Given the description of an element on the screen output the (x, y) to click on. 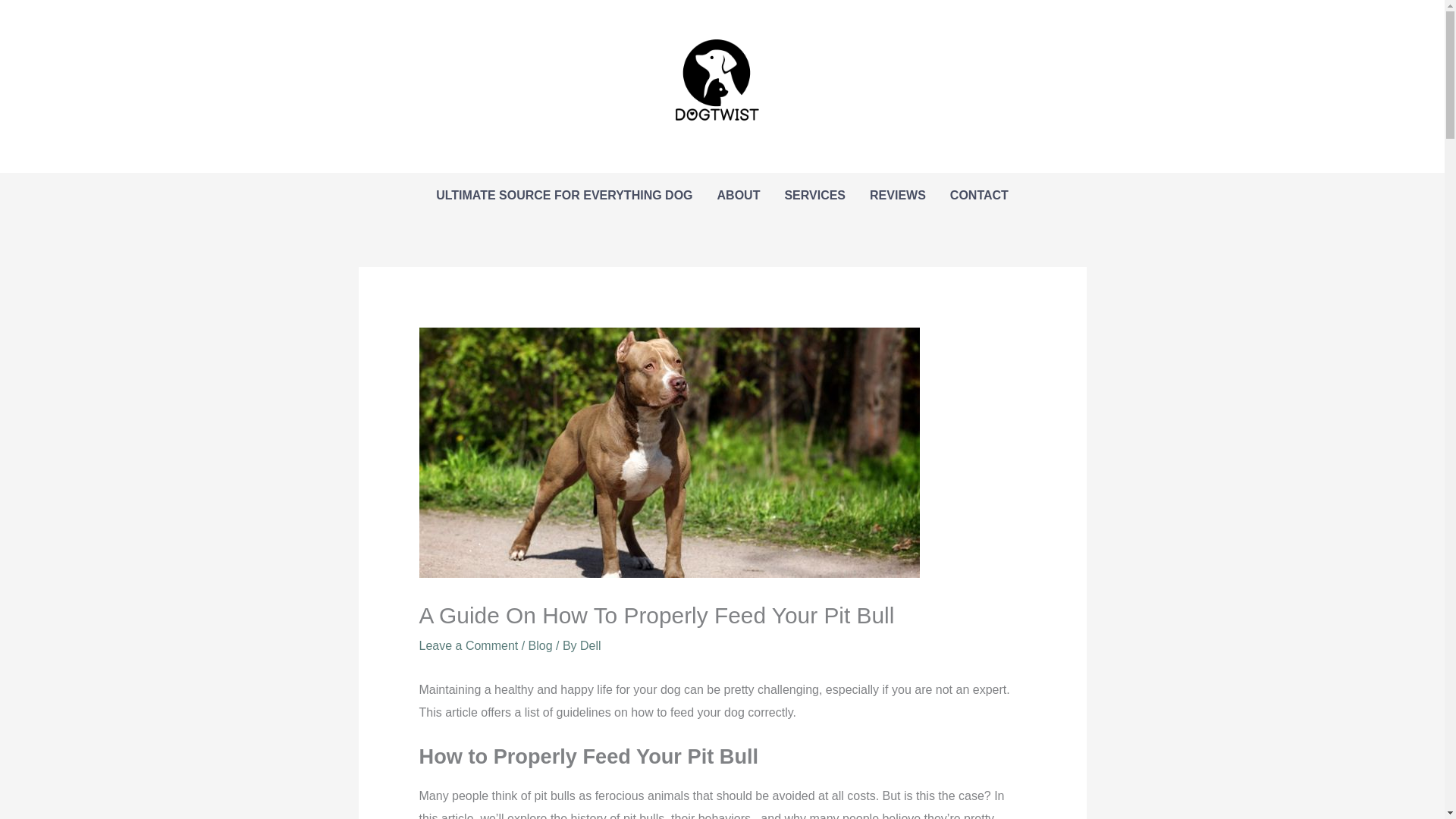
SERVICES (814, 195)
ULTIMATE SOURCE FOR EVERYTHING DOG (563, 195)
CONTACT (978, 195)
Leave a Comment (468, 645)
ABOUT (738, 195)
View all posts by Dell (590, 645)
REVIEWS (897, 195)
Dell (590, 645)
Blog (540, 645)
